Given the description of an element on the screen output the (x, y) to click on. 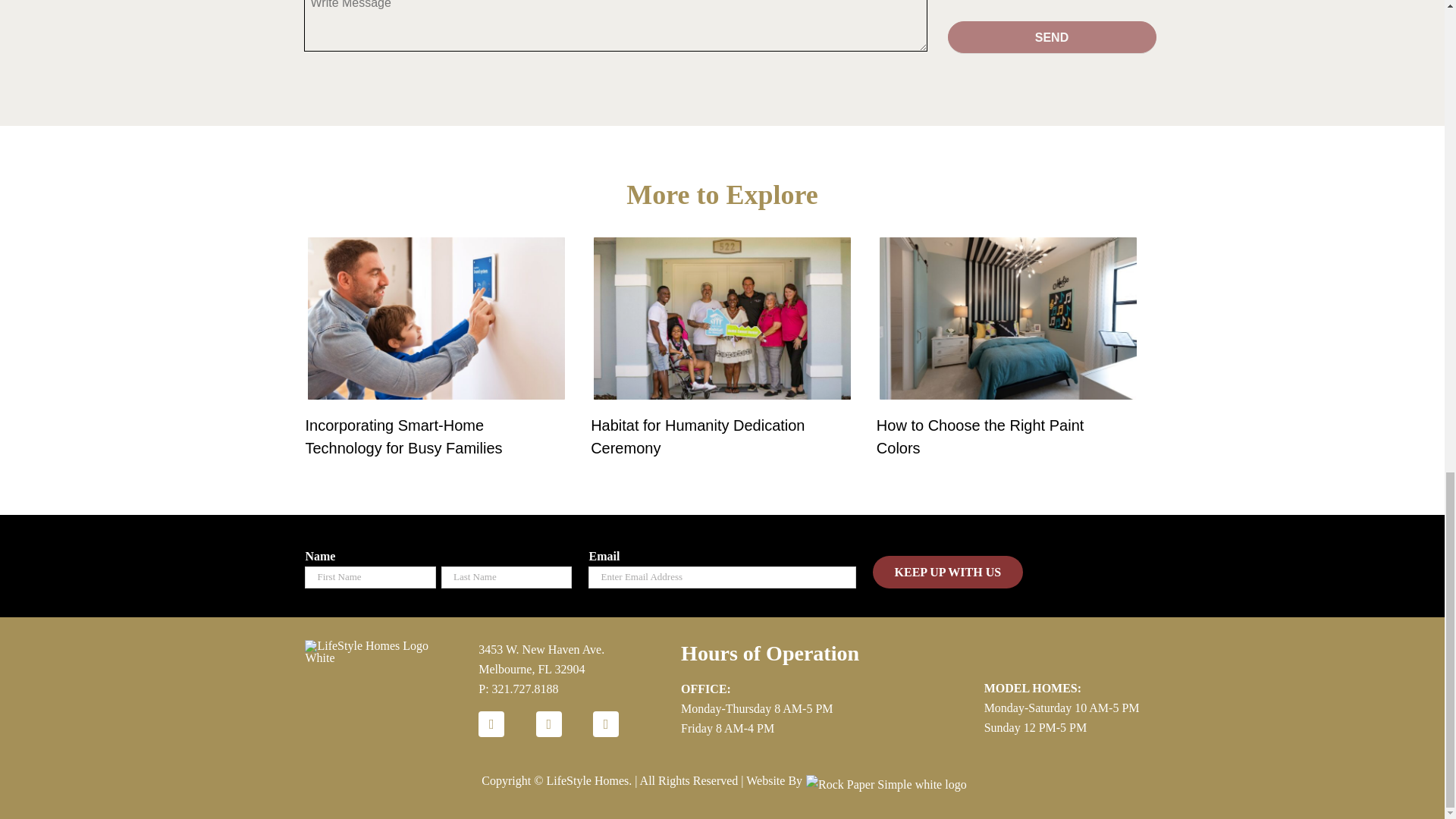
Instagram (605, 724)
Houzz (491, 724)
This link opens the Rock Paper Simple website in a new tab (882, 781)
SEND (1051, 37)
Keep Up with Us (947, 572)
Facebook (548, 724)
